Given the description of an element on the screen output the (x, y) to click on. 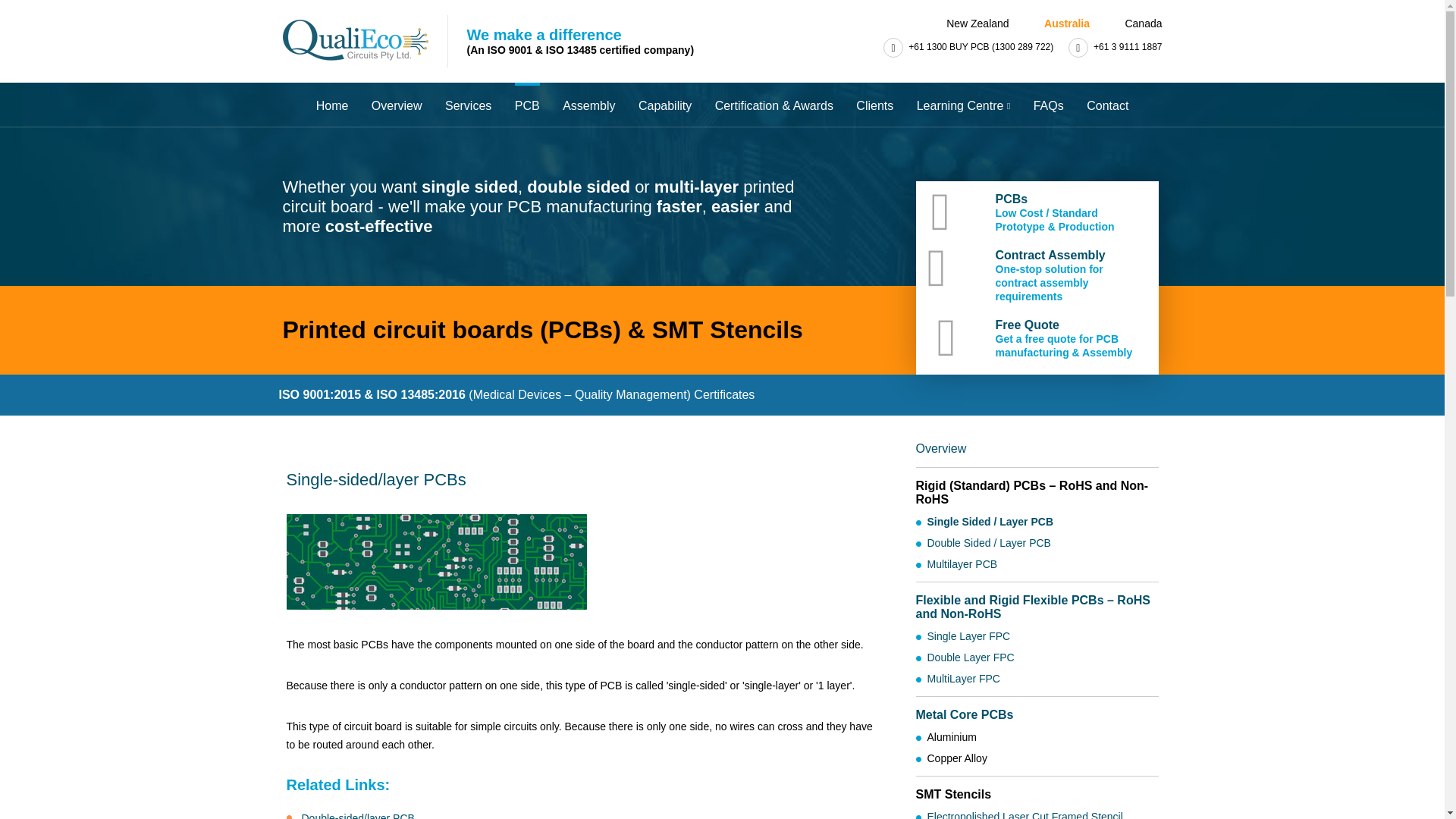
Capability (665, 104)
Overview (396, 104)
Learning Centre (963, 104)
Services (468, 104)
Multilayer PCB (961, 563)
Canada (1134, 23)
Single Layer FPC (968, 635)
Overview (940, 448)
New Zealand (969, 23)
Australia (1058, 23)
Contact (1107, 104)
Metal Core PCBs (964, 714)
Electropolished Laser Cut Framed Stencil (1024, 814)
Assembly (588, 104)
